Given the description of an element on the screen output the (x, y) to click on. 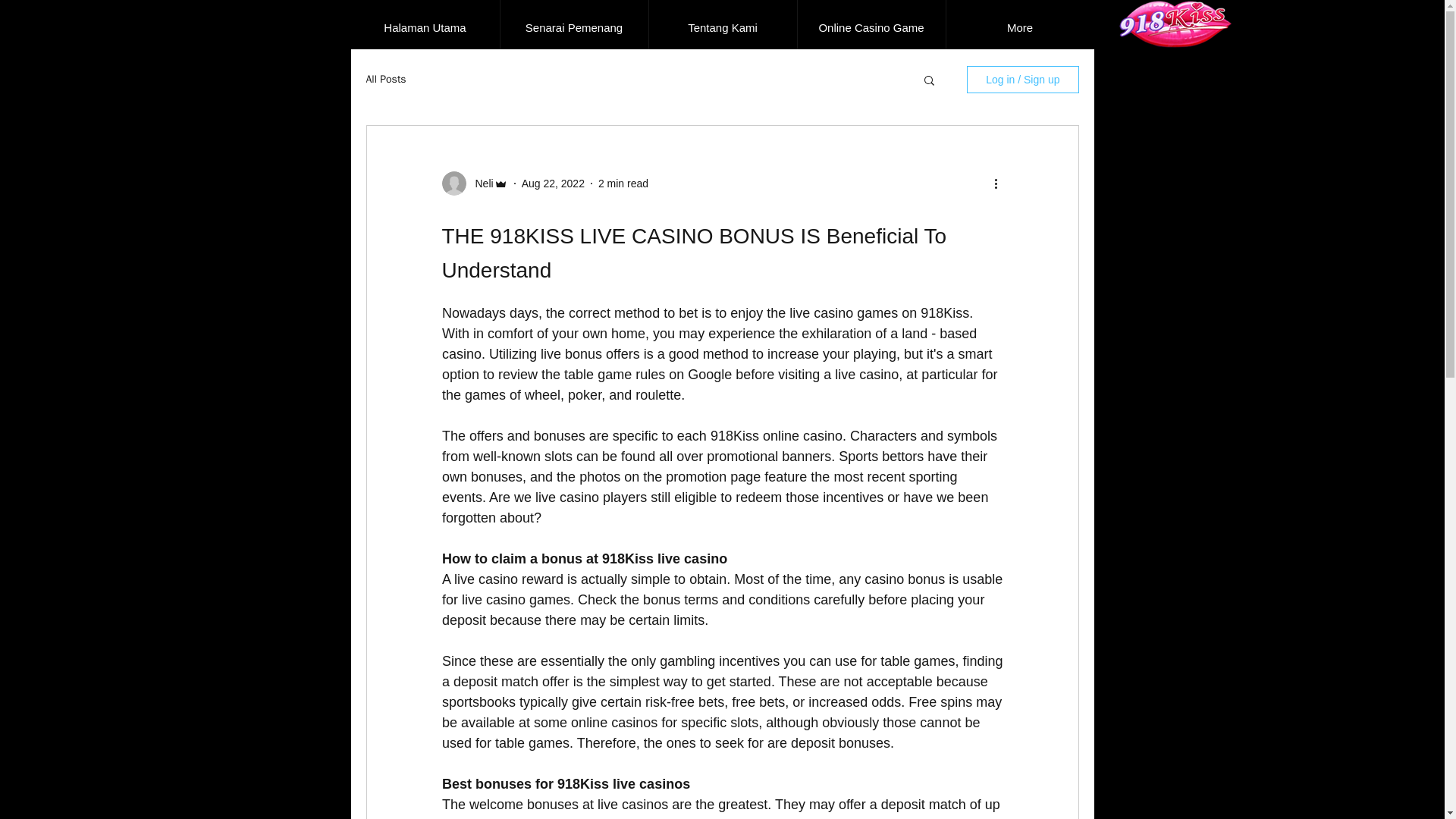
Neli (479, 183)
Aug 22, 2022 (553, 183)
All Posts (385, 79)
Tentang Kami (721, 27)
2 min read (622, 183)
Halaman Utama (424, 27)
